Given the description of an element on the screen output the (x, y) to click on. 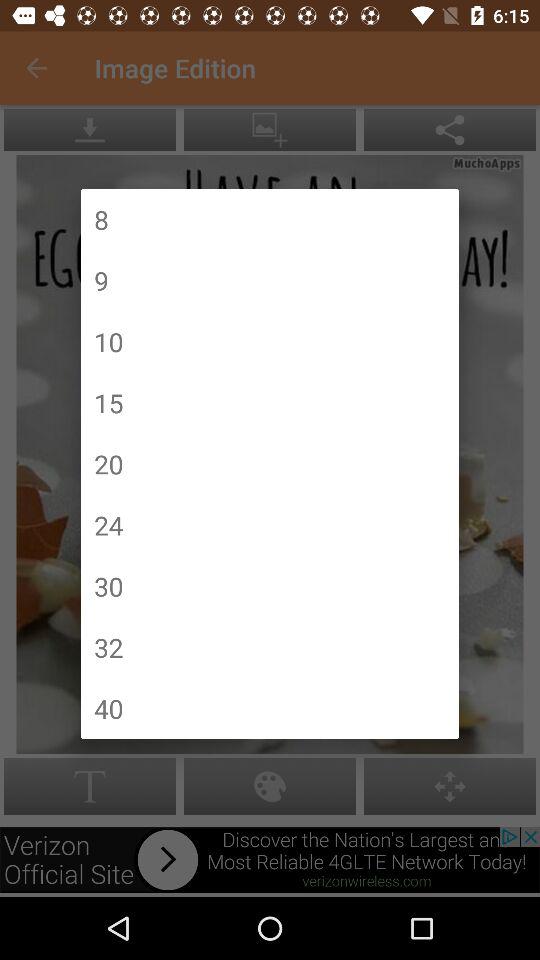
jump until 24 item (108, 524)
